Given the description of an element on the screen output the (x, y) to click on. 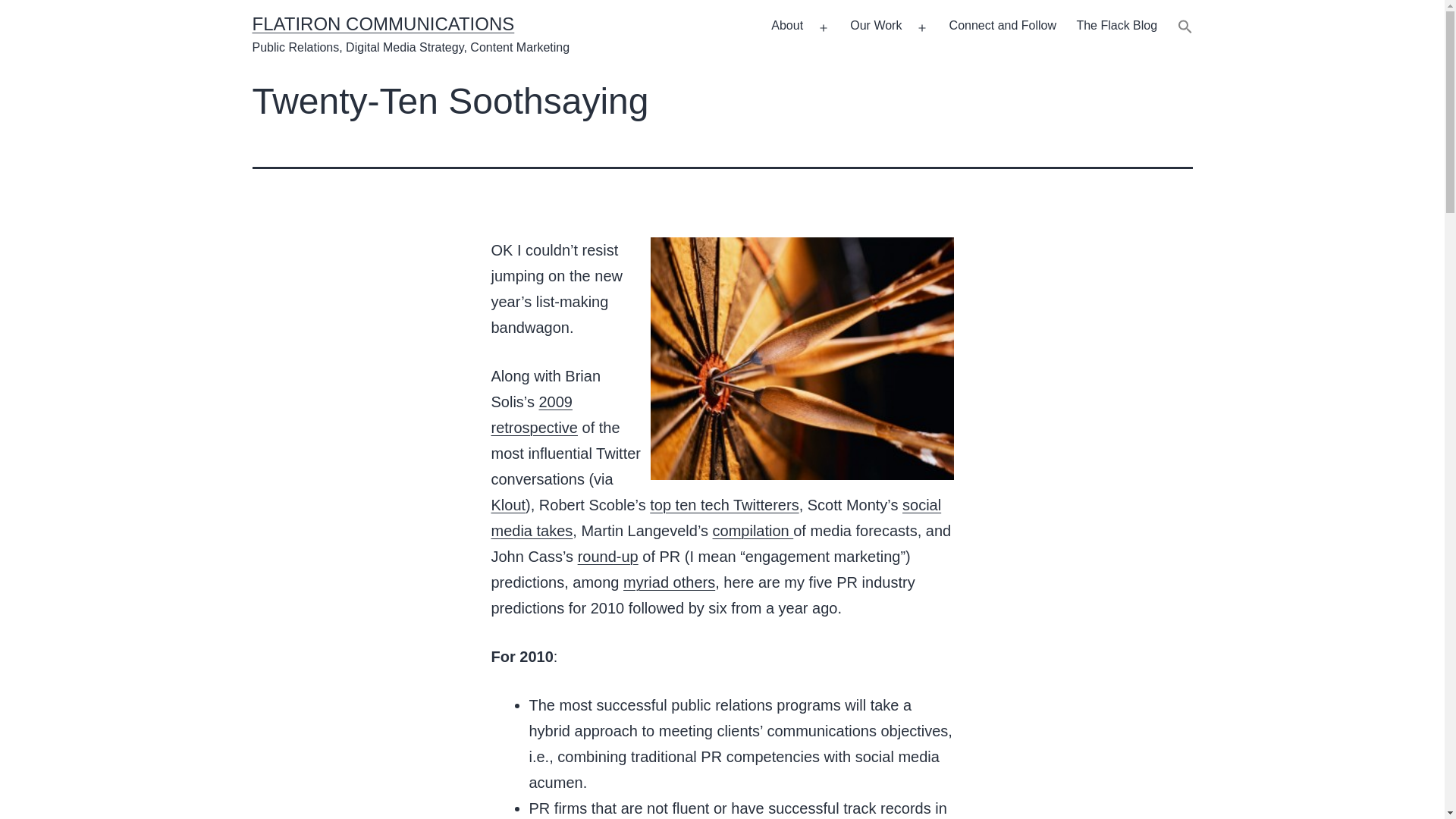
myriad others (668, 582)
Our Work (876, 27)
round-up (608, 556)
compilation (753, 530)
Connect and Follow (1002, 27)
2009 retrospective (535, 414)
top ten tech Twitterers (723, 504)
About (786, 27)
Klout (508, 504)
The Flack Blog (1116, 27)
